Given the description of an element on the screen output the (x, y) to click on. 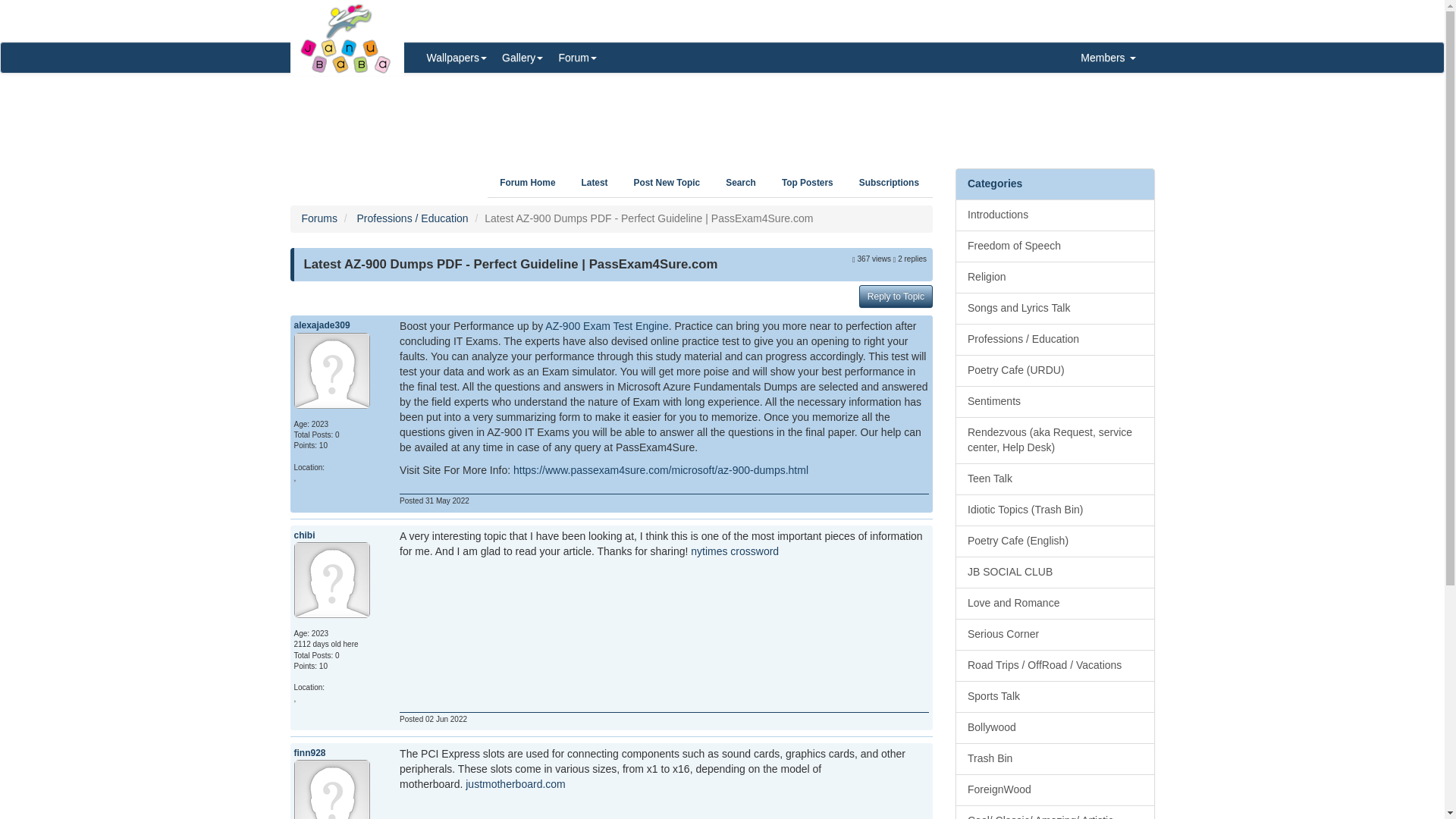
Advertisement (721, 115)
Gallery (522, 57)
Wallpapers (457, 57)
Forum (577, 57)
